Given the description of an element on the screen output the (x, y) to click on. 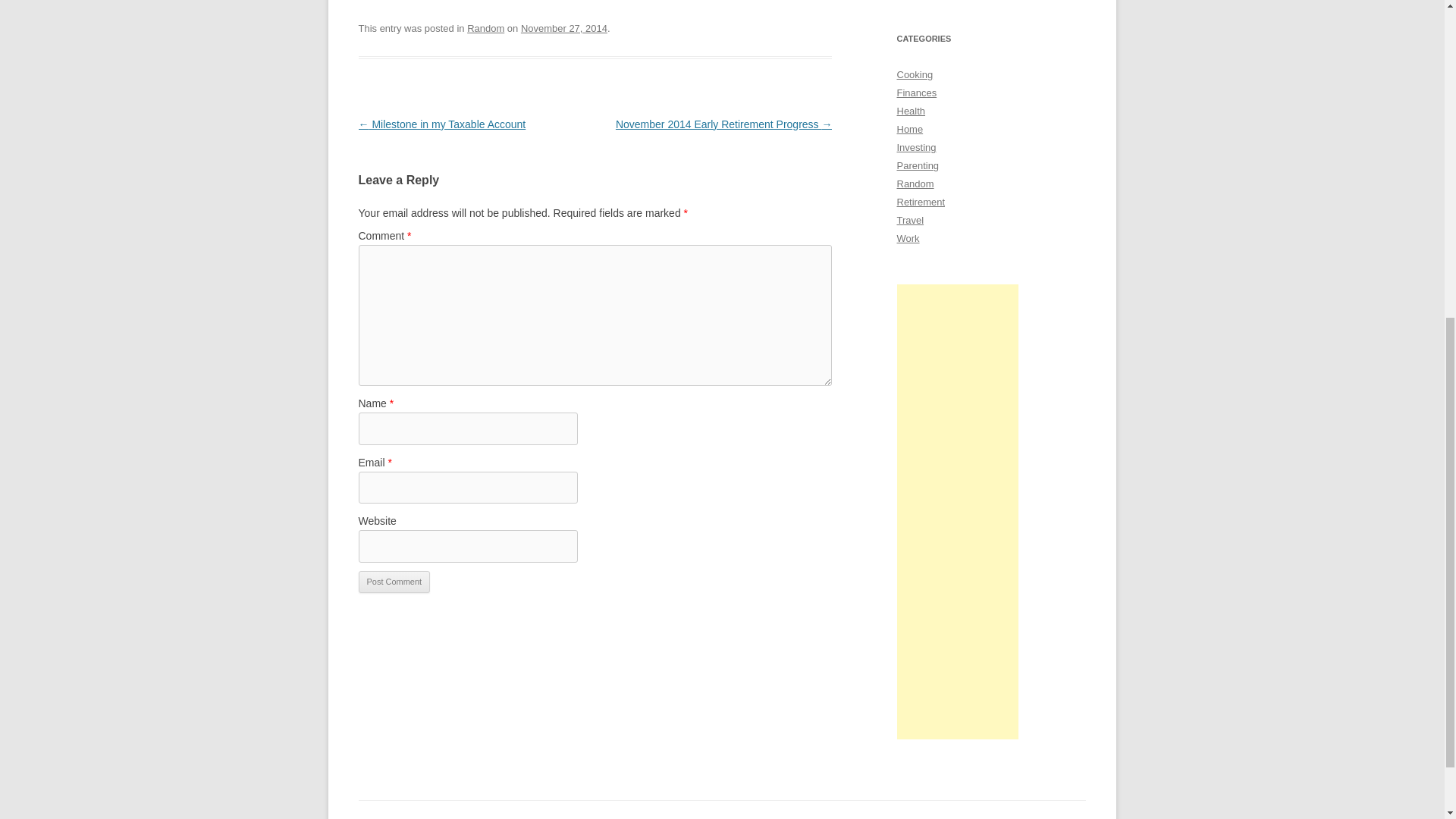
Post Comment (393, 581)
Finances (916, 92)
Work (907, 238)
Home (909, 129)
Random (485, 28)
6:47 am (564, 28)
Parenting (917, 165)
Travel (909, 220)
November 27, 2014 (564, 28)
Random (914, 183)
